Given the description of an element on the screen output the (x, y) to click on. 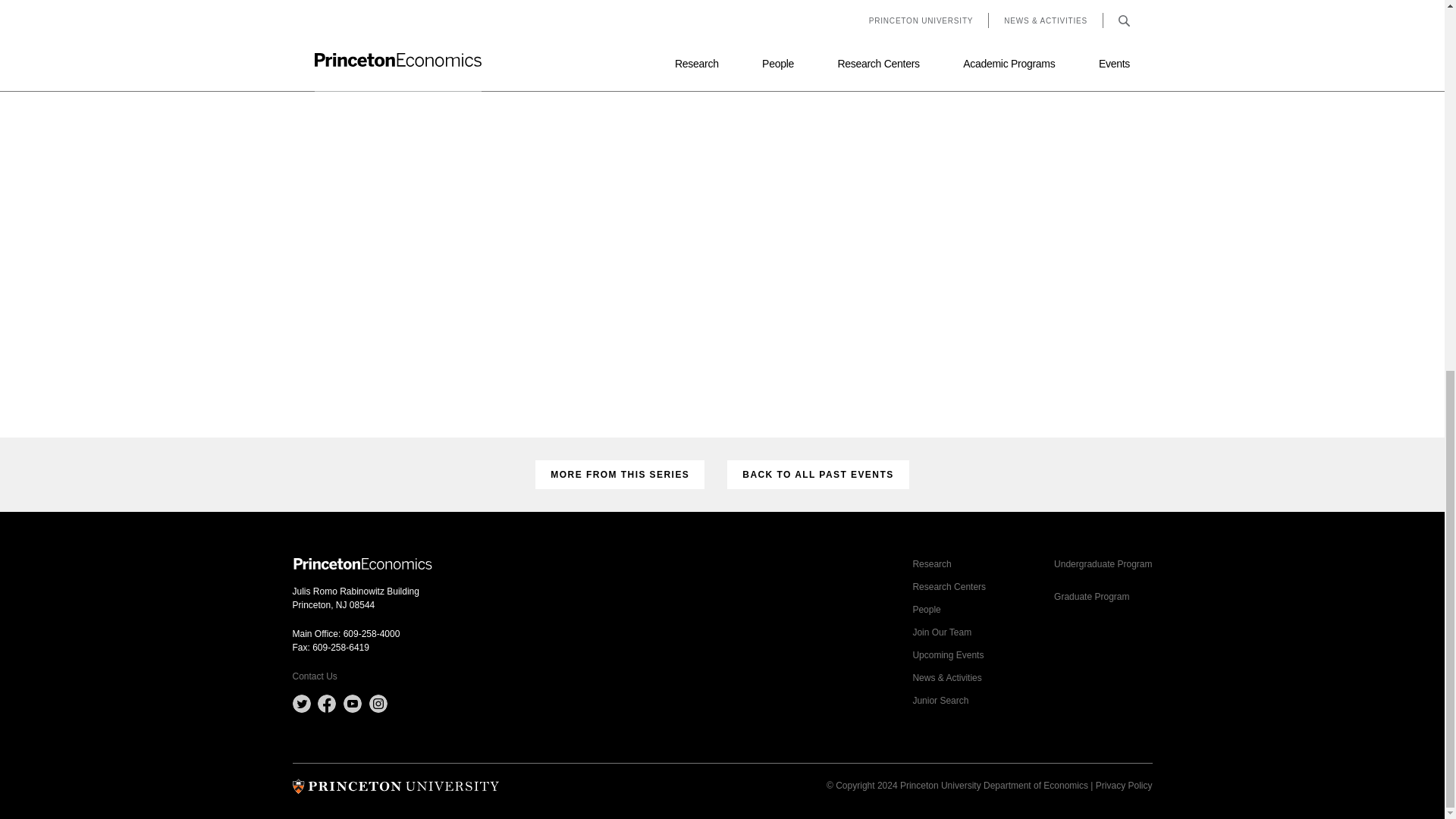
learn more about Louis Simpson and his legacy here (710, 5)
YouTube video player (722, 237)
MORE FROM THIS SERIES (619, 474)
BACK TO ALL PAST EVENTS (817, 474)
BROWSE PAST SIMPSON LECTURES (721, 42)
